Given the description of an element on the screen output the (x, y) to click on. 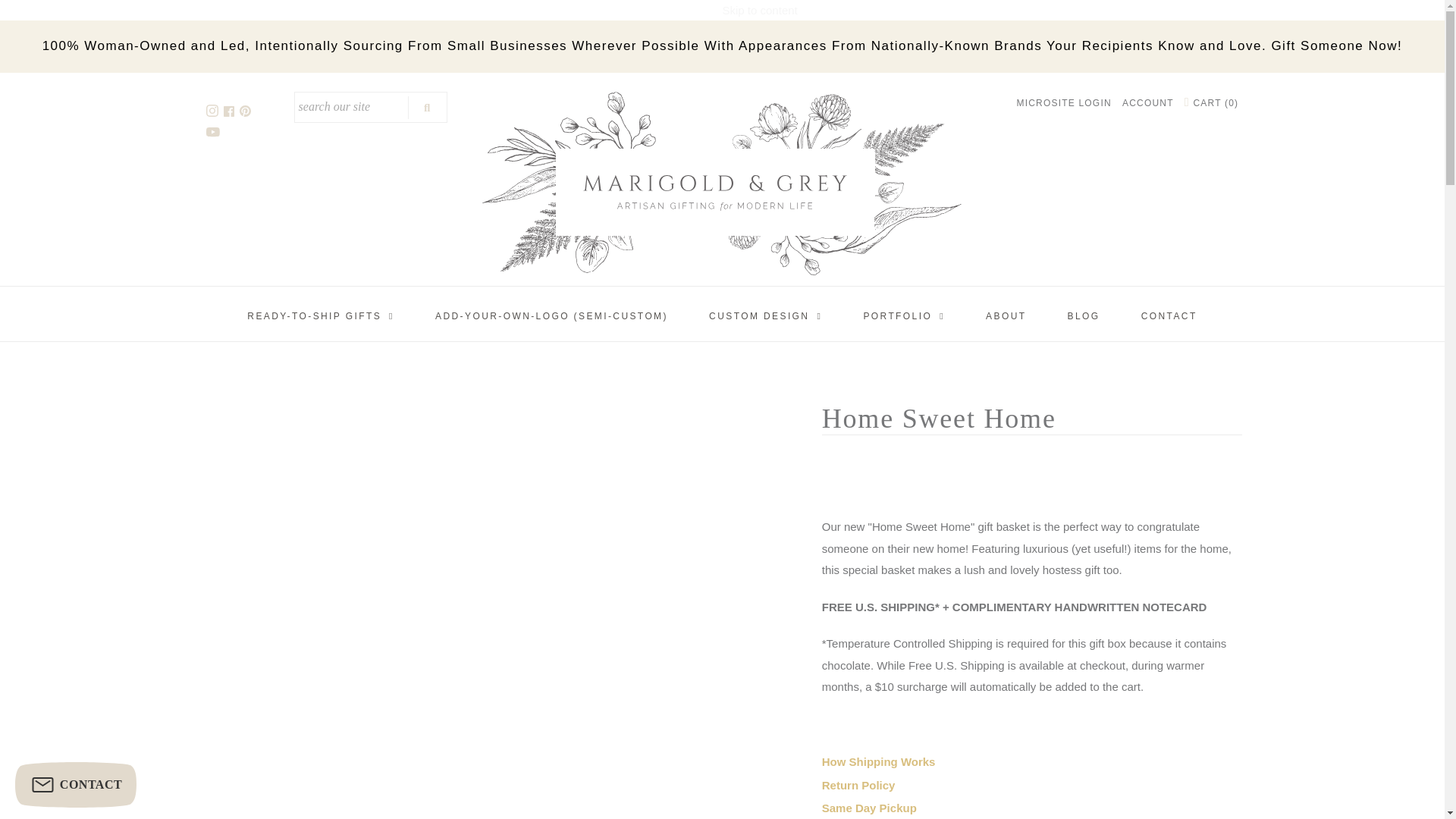
ACCOUNT (1147, 102)
READY-TO-SHIP GIFTS (320, 316)
MICROSITE LOGIN (1063, 102)
CUSTOM DESIGN (765, 316)
Skip to content (759, 10)
